Given the description of an element on the screen output the (x, y) to click on. 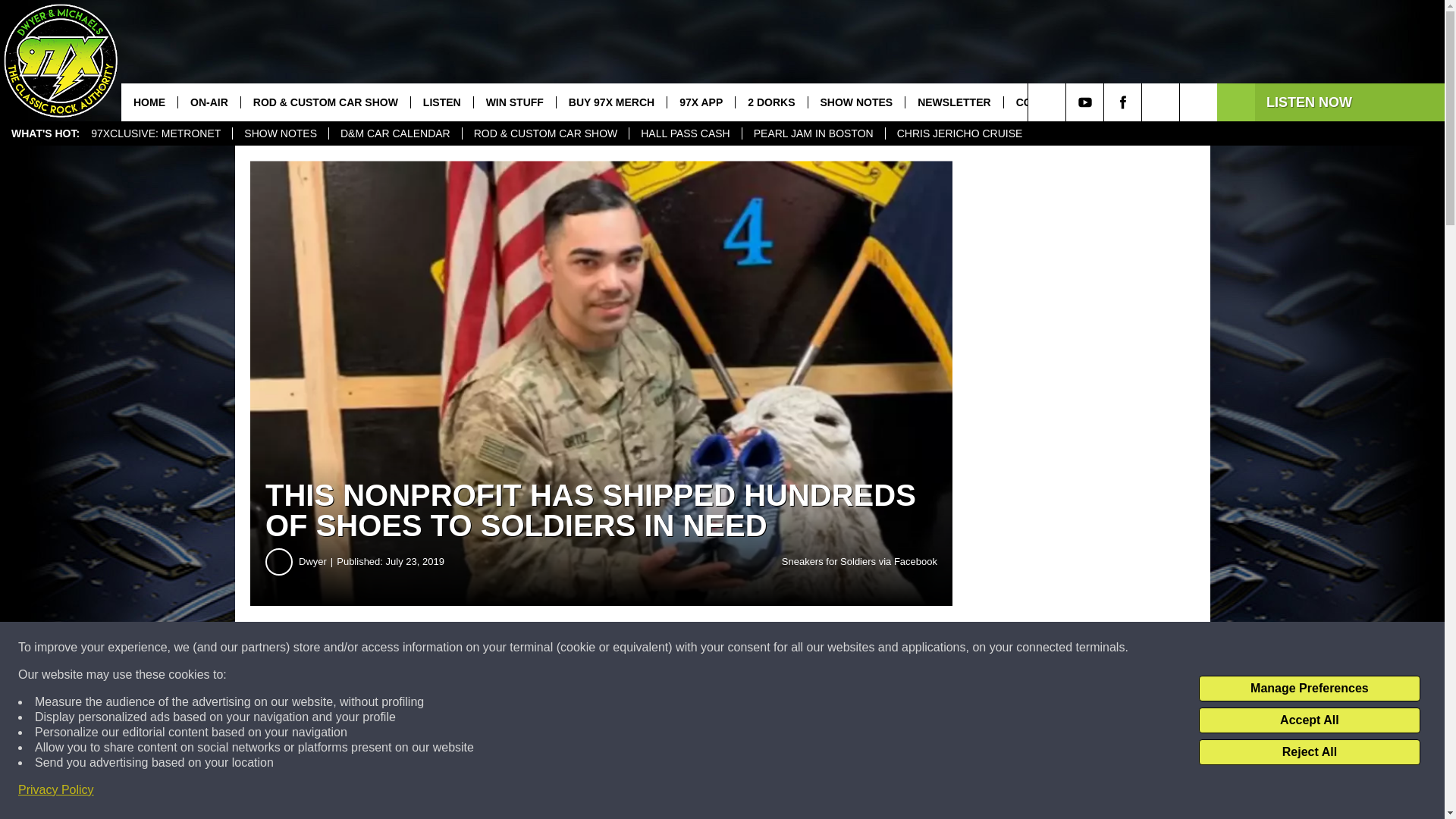
WIN STUFF (514, 102)
Share on Twitter (741, 647)
HOME (148, 102)
Manage Preferences (1309, 688)
97X APP (700, 102)
CHRIS JERICHO CRUISE (959, 133)
Reject All (1309, 751)
BUY 97X MERCH (611, 102)
97XCLUSIVE: METRONET (155, 133)
Share on Facebook (460, 647)
